Given the description of an element on the screen output the (x, y) to click on. 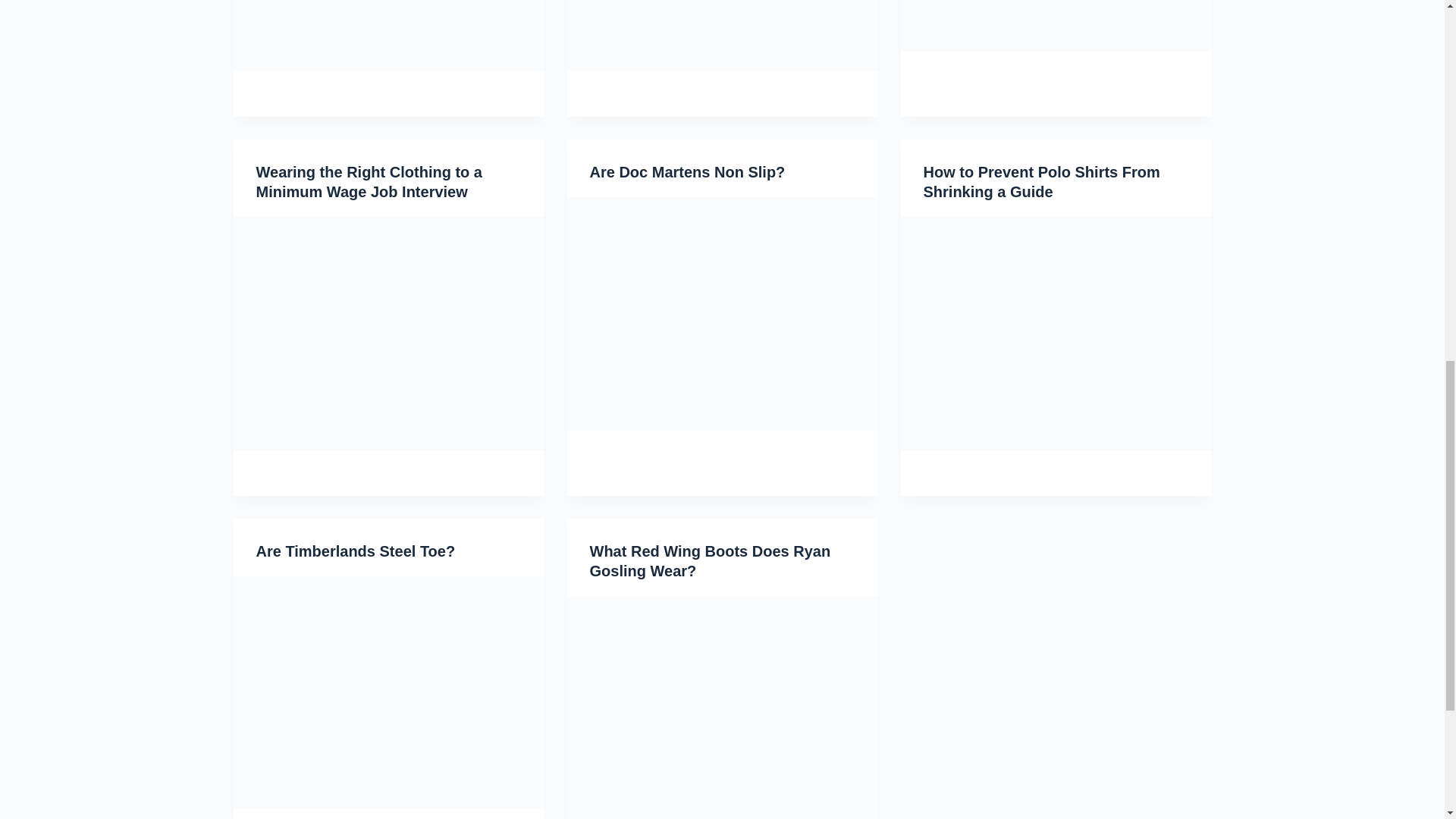
How to Prevent Polo Shirts From Shrinking a Guide 9 (1056, 333)
Why Do Farmers Wear Denim Bib Overalls? 4 (388, 35)
What Red Wing Boots Does Ryan Gosling Wear? 11 (722, 707)
Are Doc Martens Non Slip? 8 (722, 313)
Wearing the Right Clothing to a Minimum Wage Job Interview (369, 181)
How to Soften Leather Boots 6 (1056, 25)
Are Timberlands Steel Toe? 10 (388, 692)
Are Timberlands Steel Toe? (355, 550)
What Red Wing Boots Does Ryan Gosling Wear? (710, 560)
